Given the description of an element on the screen output the (x, y) to click on. 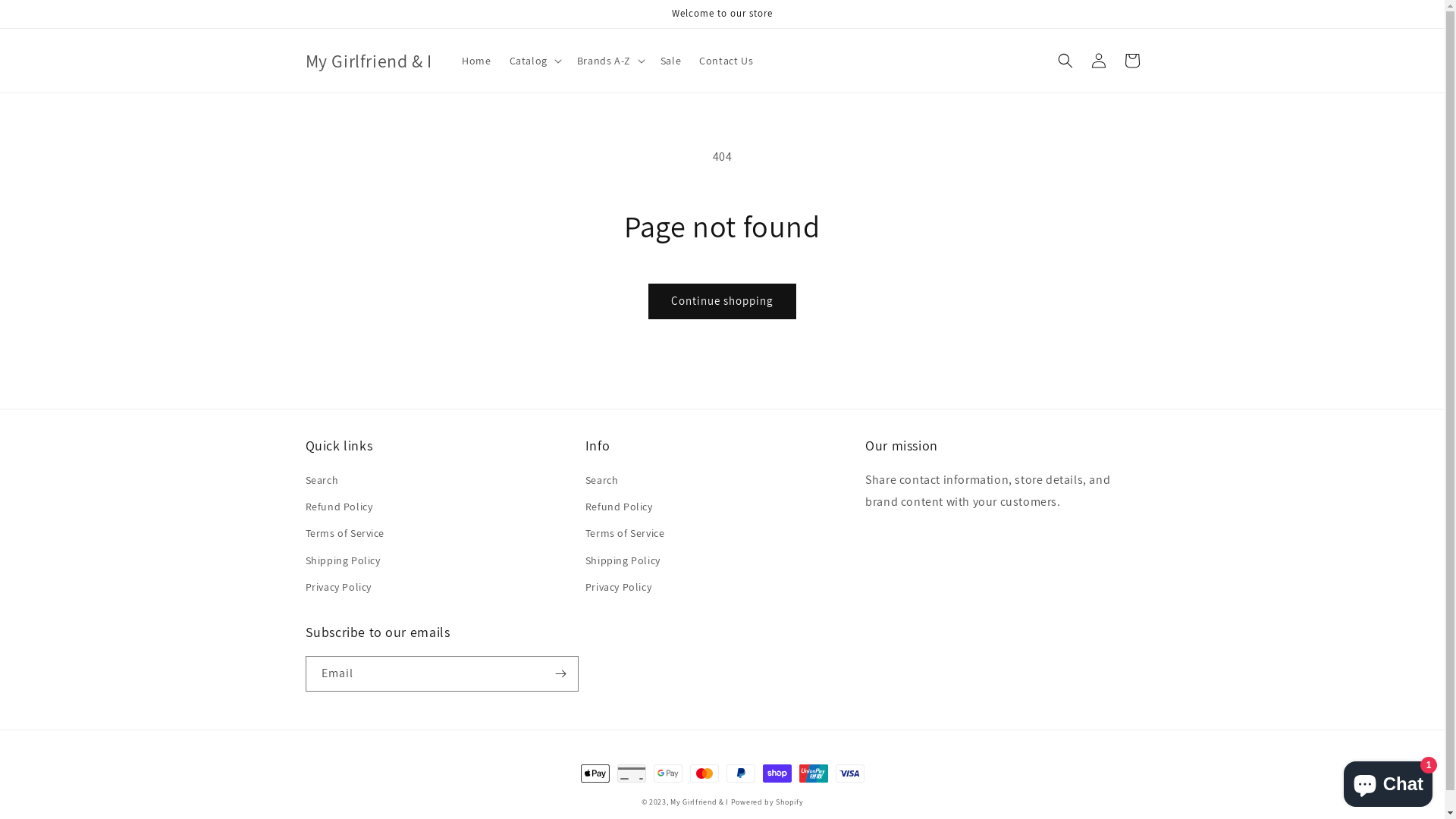
Powered by Shopify Element type: text (767, 801)
Terms of Service Element type: text (344, 533)
My Girlfriend & I Element type: text (368, 60)
Terms of Service Element type: text (625, 533)
Shipping Policy Element type: text (341, 560)
Privacy Policy Element type: text (618, 587)
Log in Element type: text (1097, 60)
Sale Element type: text (670, 60)
Contact Us Element type: text (726, 60)
Cart Element type: text (1131, 60)
Continue shopping Element type: text (722, 301)
Privacy Policy Element type: text (337, 587)
Home Element type: text (475, 60)
Refund Policy Element type: text (618, 506)
Search Element type: text (321, 481)
Refund Policy Element type: text (338, 506)
My Girlfriend & I Element type: text (700, 801)
Shopify online store chat Element type: hover (1388, 780)
Search Element type: text (601, 481)
Shipping Policy Element type: text (622, 560)
